Given the description of an element on the screen output the (x, y) to click on. 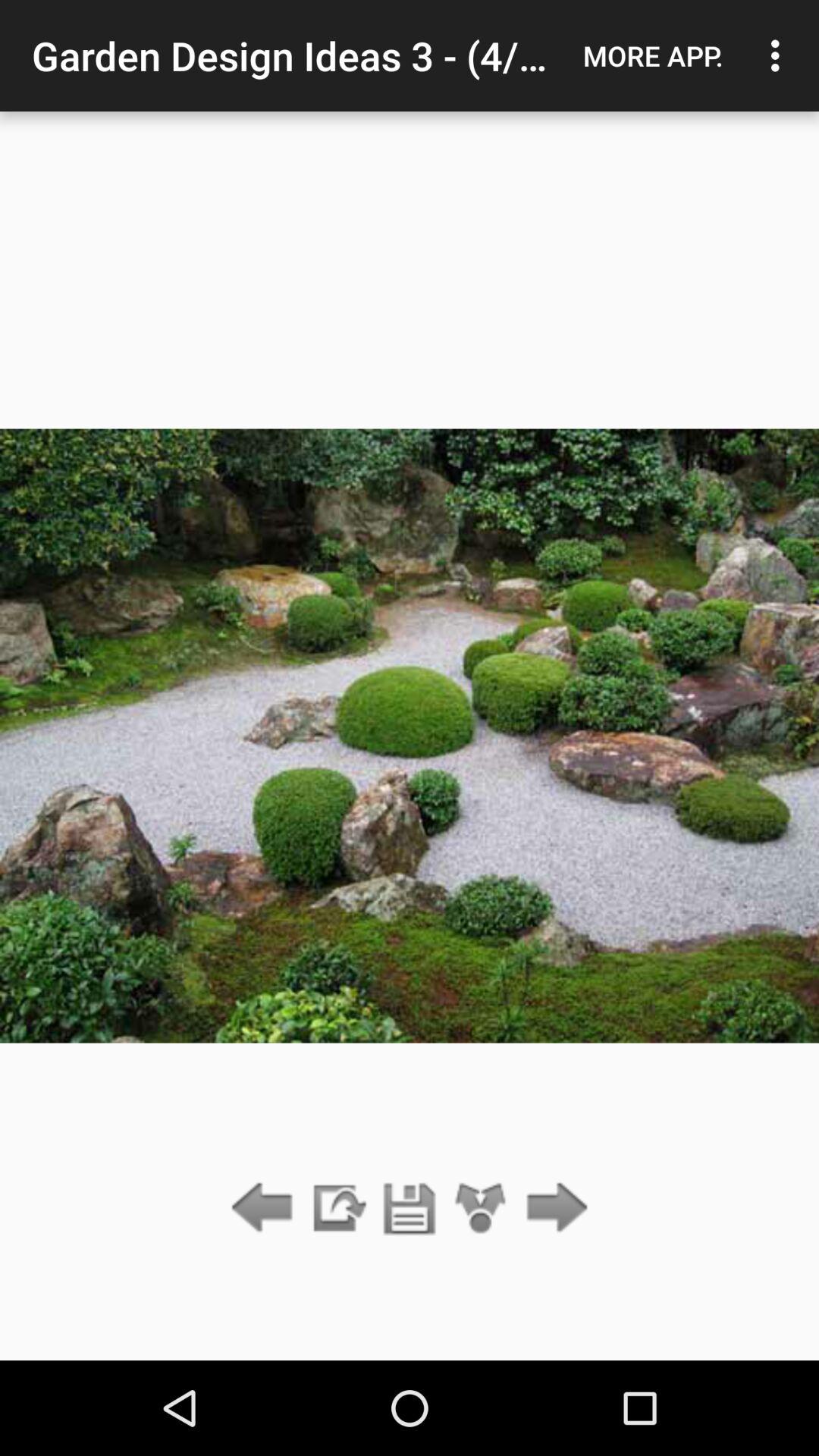
launch item below garden design ideas app (480, 1208)
